Given the description of an element on the screen output the (x, y) to click on. 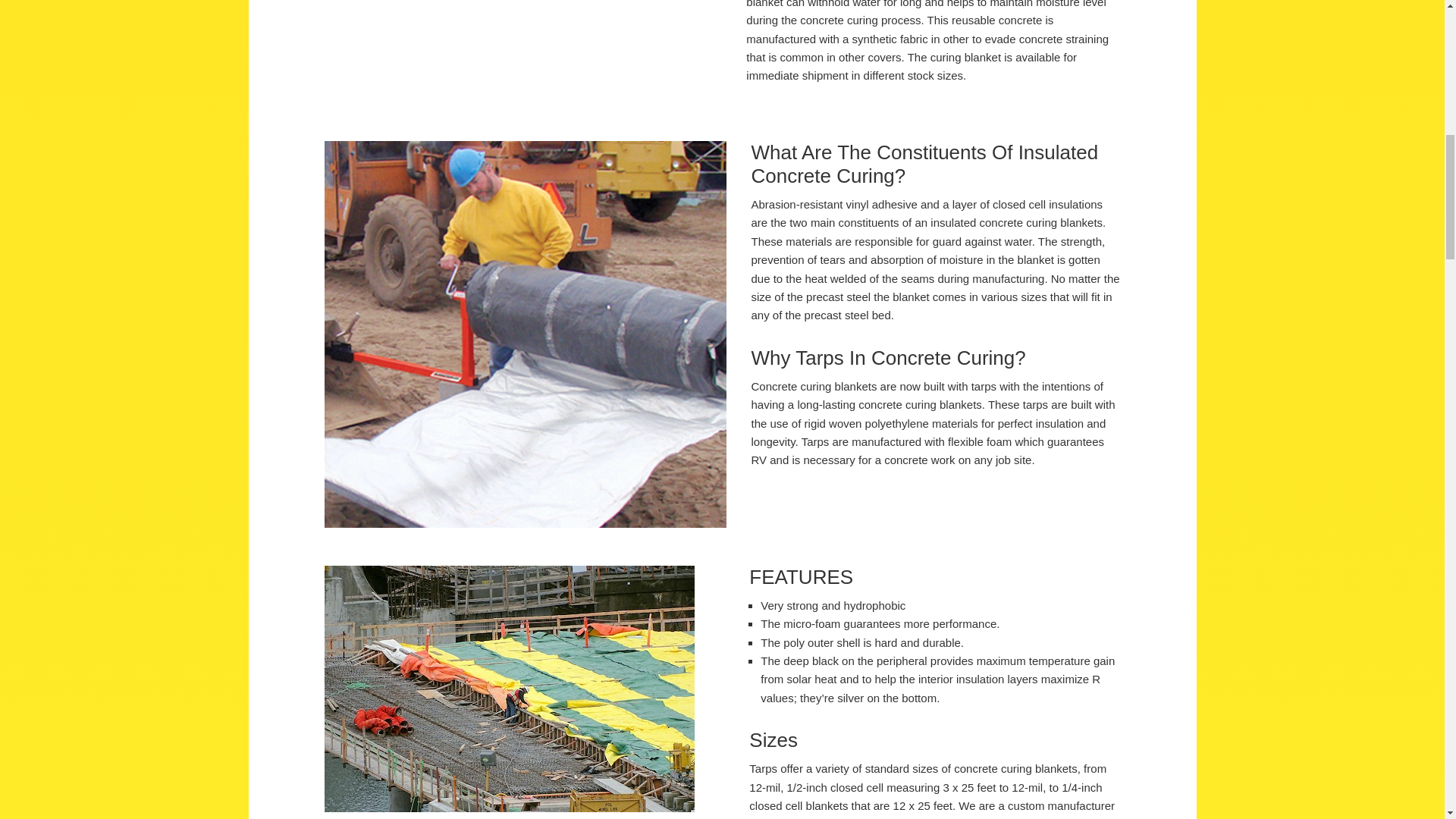
insulated-construction-site-tarps-6 (509, 688)
